Given the description of an element on the screen output the (x, y) to click on. 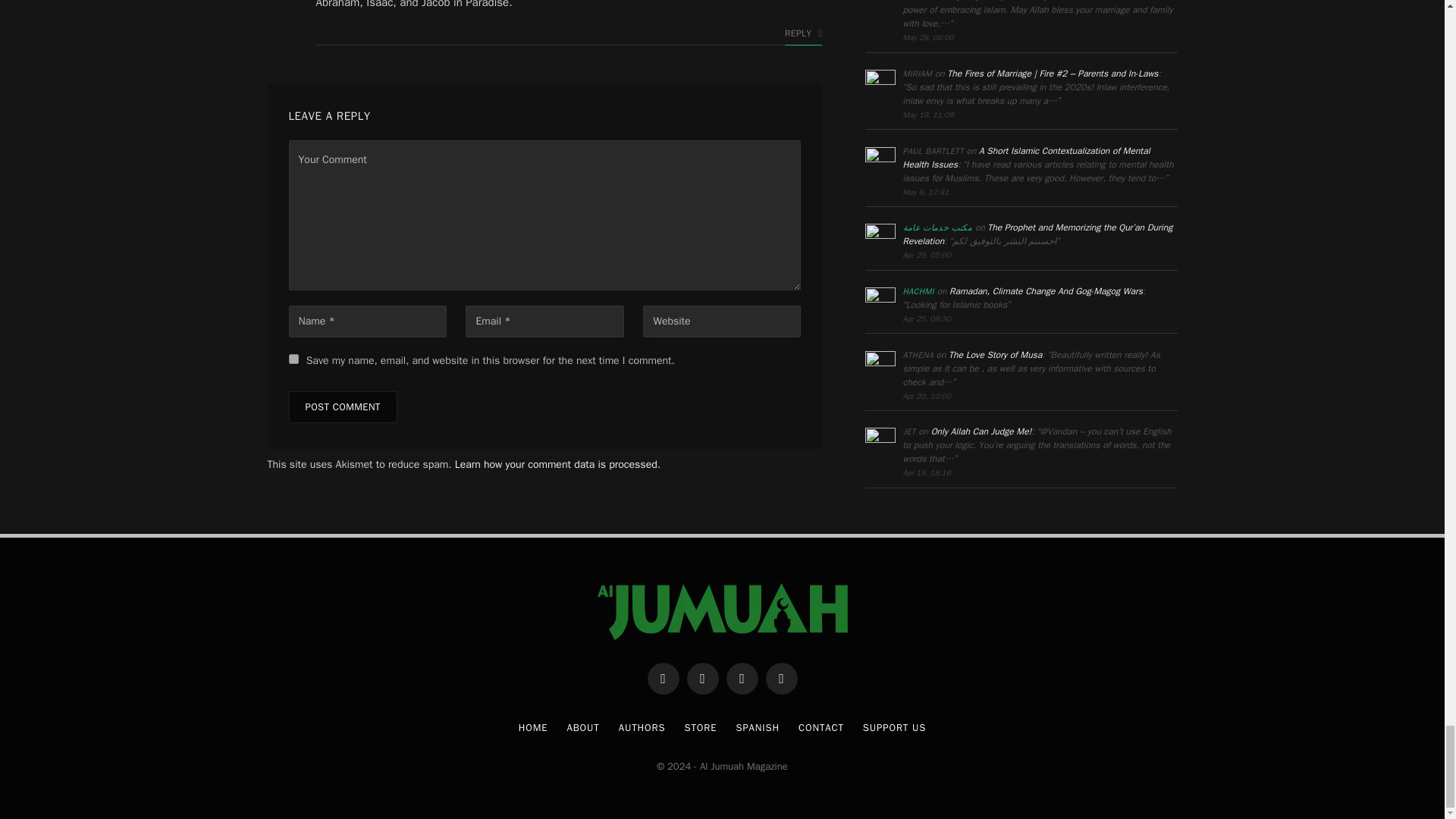
yes (293, 358)
Post Comment (342, 407)
